Given the description of an element on the screen output the (x, y) to click on. 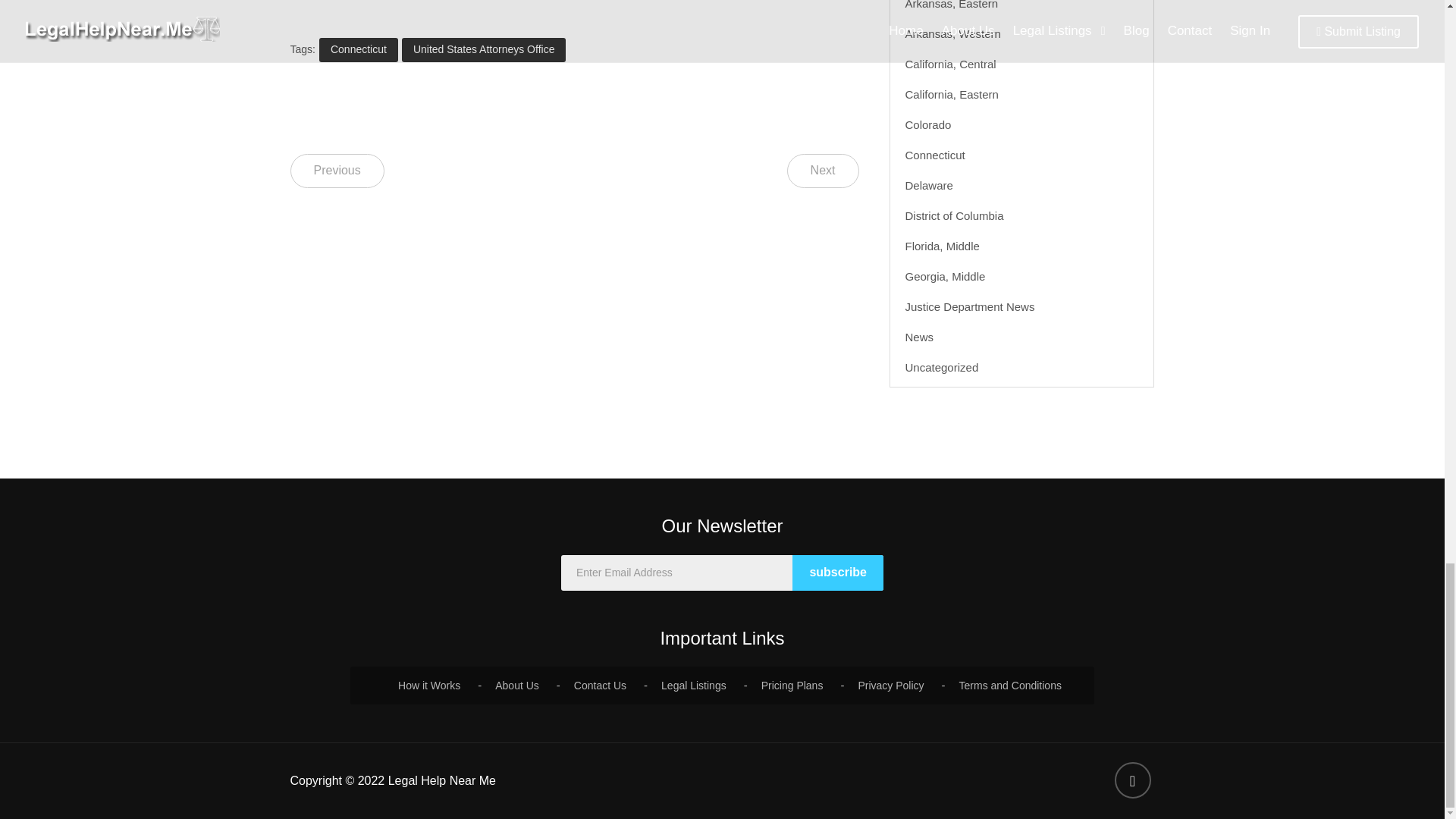
United States Attorneys Office (483, 49)
Next (823, 170)
Previous (336, 170)
subscribe (837, 572)
Connecticut (357, 49)
